Given the description of an element on the screen output the (x, y) to click on. 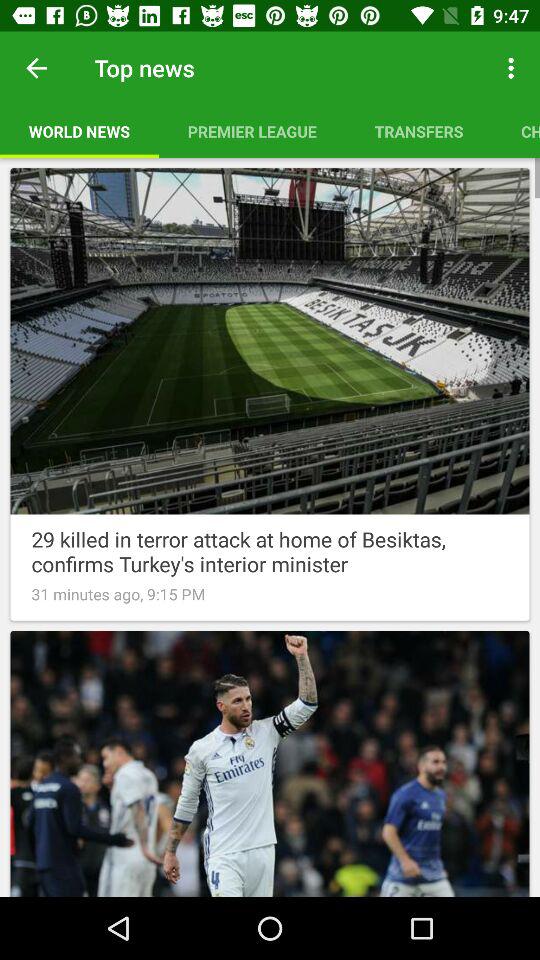
tap item to the right of world news (251, 131)
